Given the description of an element on the screen output the (x, y) to click on. 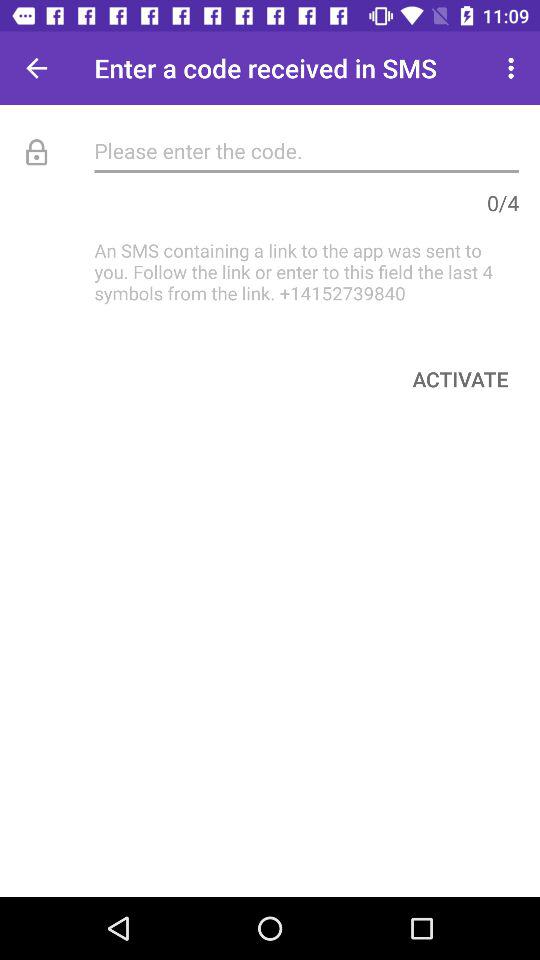
open the icon to the right of enter a code icon (513, 67)
